Given the description of an element on the screen output the (x, y) to click on. 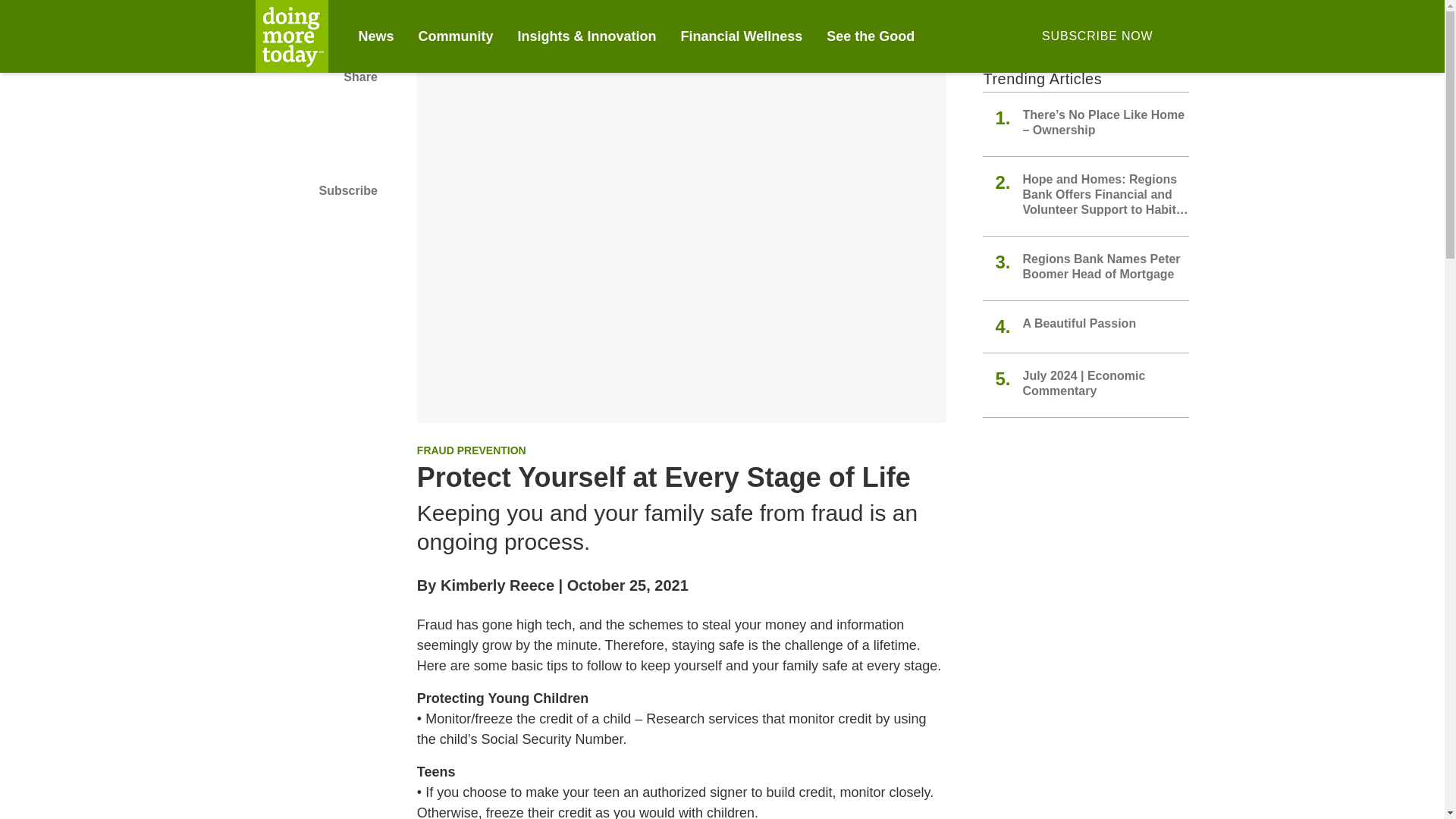
Subscribe (315, 190)
See the Good (870, 35)
SUBSCRIBE NOW (1096, 36)
FRAUD PREVENTION (470, 450)
News (375, 35)
Community (456, 35)
Financial Wellness (742, 35)
